Given the description of an element on the screen output the (x, y) to click on. 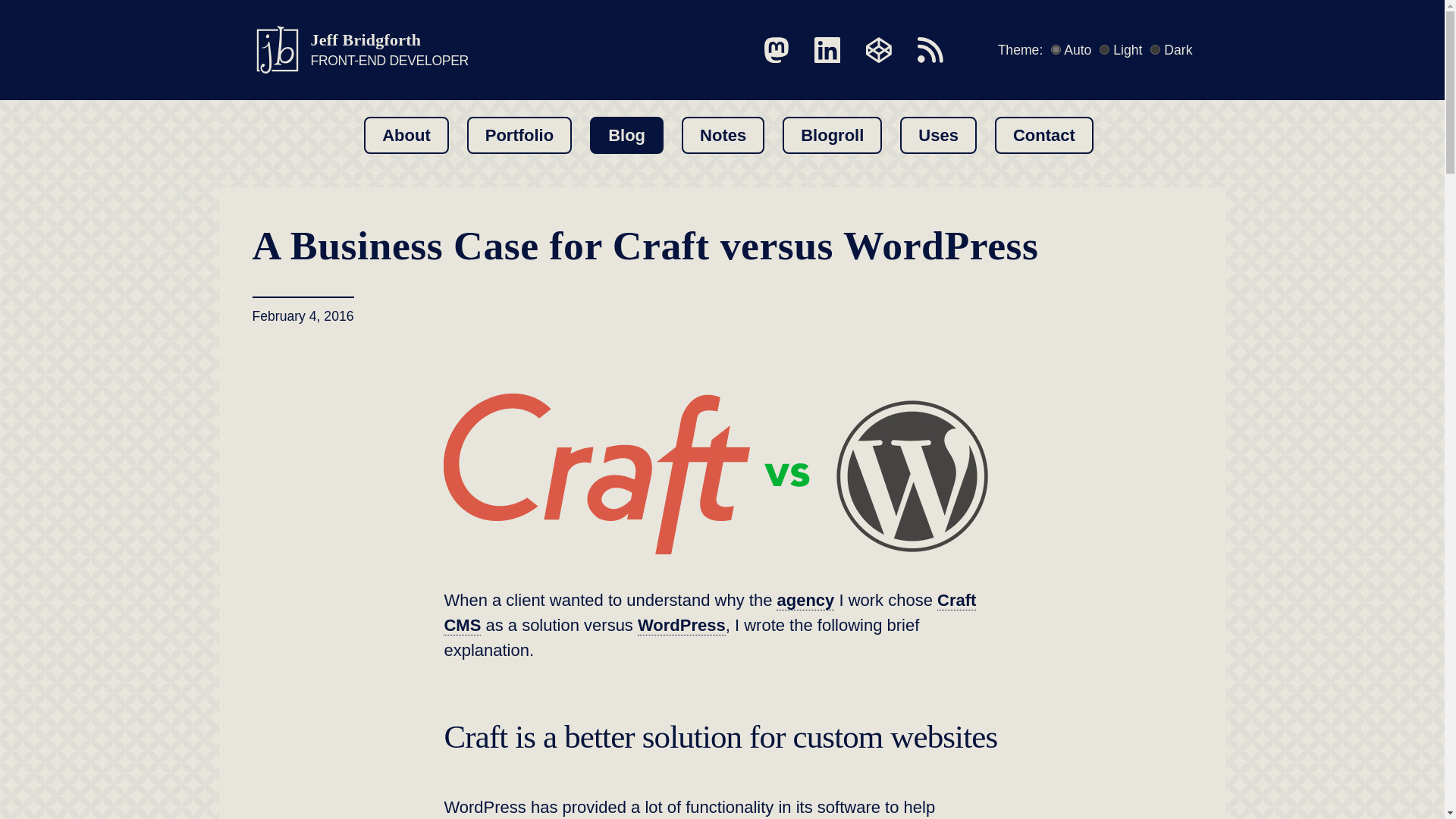
agency (805, 600)
Uses (937, 135)
auto (1056, 49)
Portfolio (519, 135)
Feed (929, 49)
About (406, 135)
dark (1155, 49)
LinkedIn (826, 49)
Blog (626, 135)
light (1104, 49)
Craft CMS (709, 612)
Codepen (878, 49)
dboy Creative (805, 600)
WordPress (359, 50)
